Given the description of an element on the screen output the (x, y) to click on. 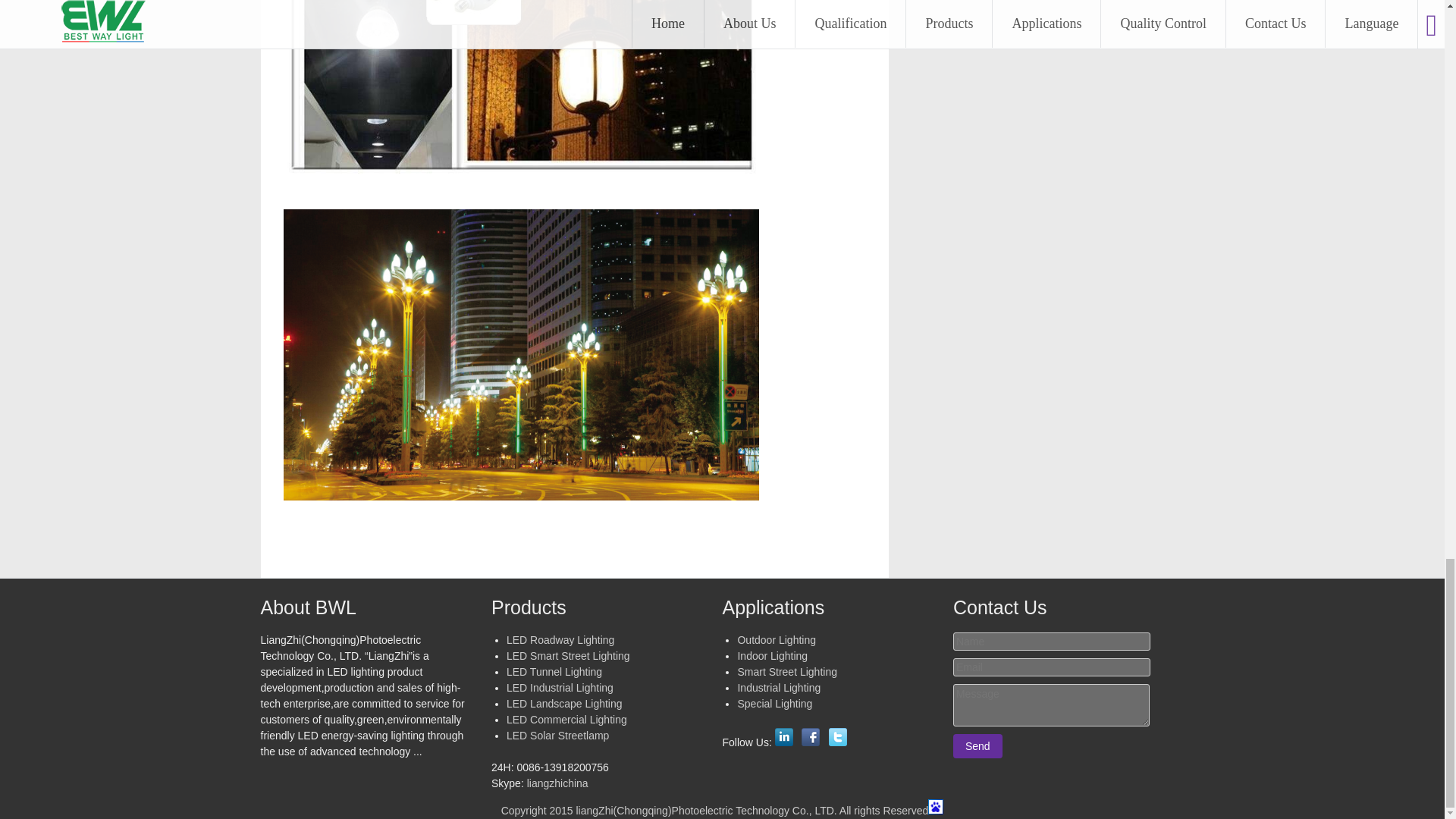
Send (978, 745)
